Given the description of an element on the screen output the (x, y) to click on. 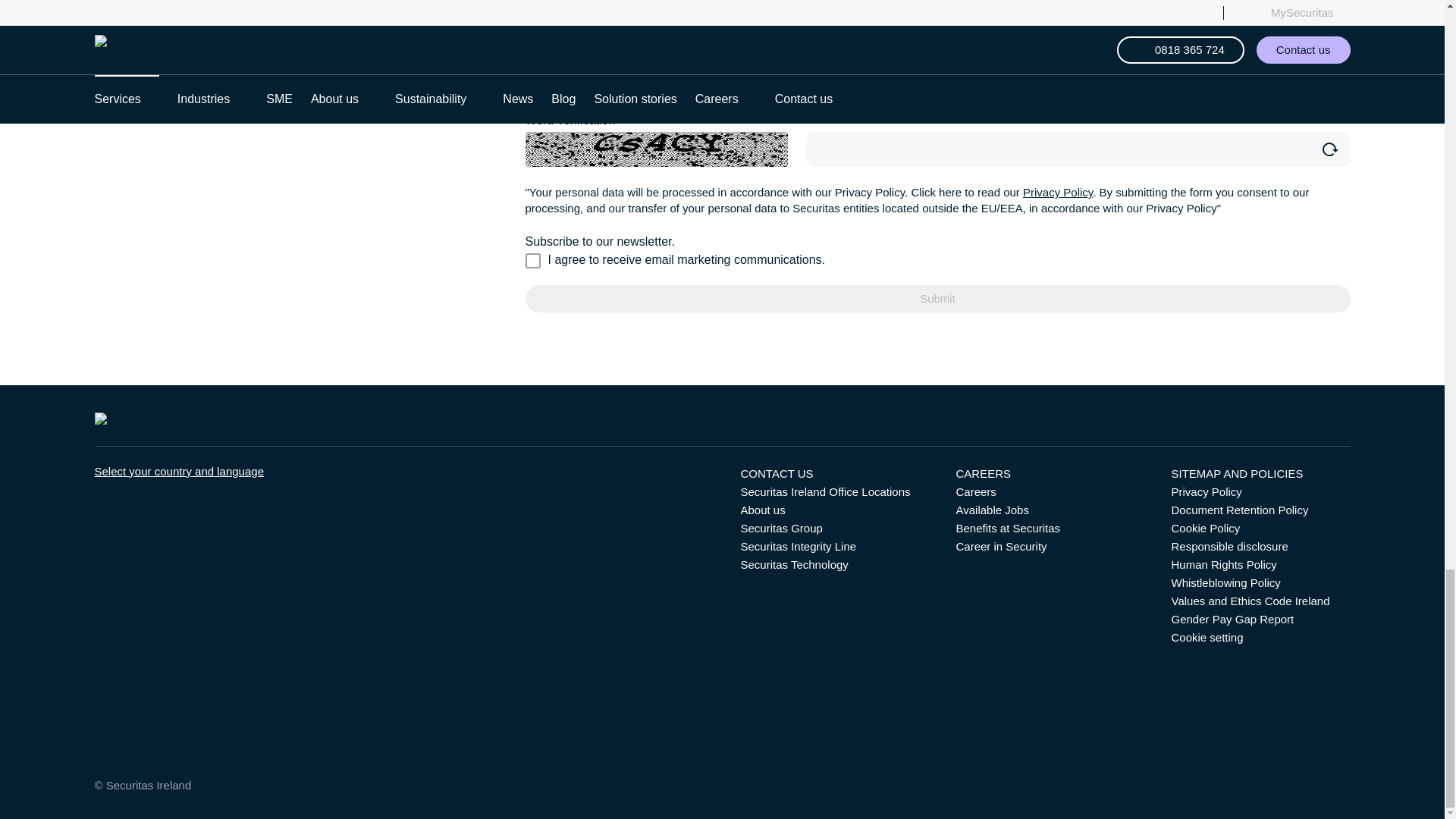
Securitas Technology (793, 563)
Privacy Policy (1058, 192)
Whistleblowing Policy (1224, 582)
Select your country and language (178, 471)
Securitas Integrity Line (797, 545)
Responsible disclosure (1228, 545)
Values and Ethics Code Ireland (1249, 600)
